Given the description of an element on the screen output the (x, y) to click on. 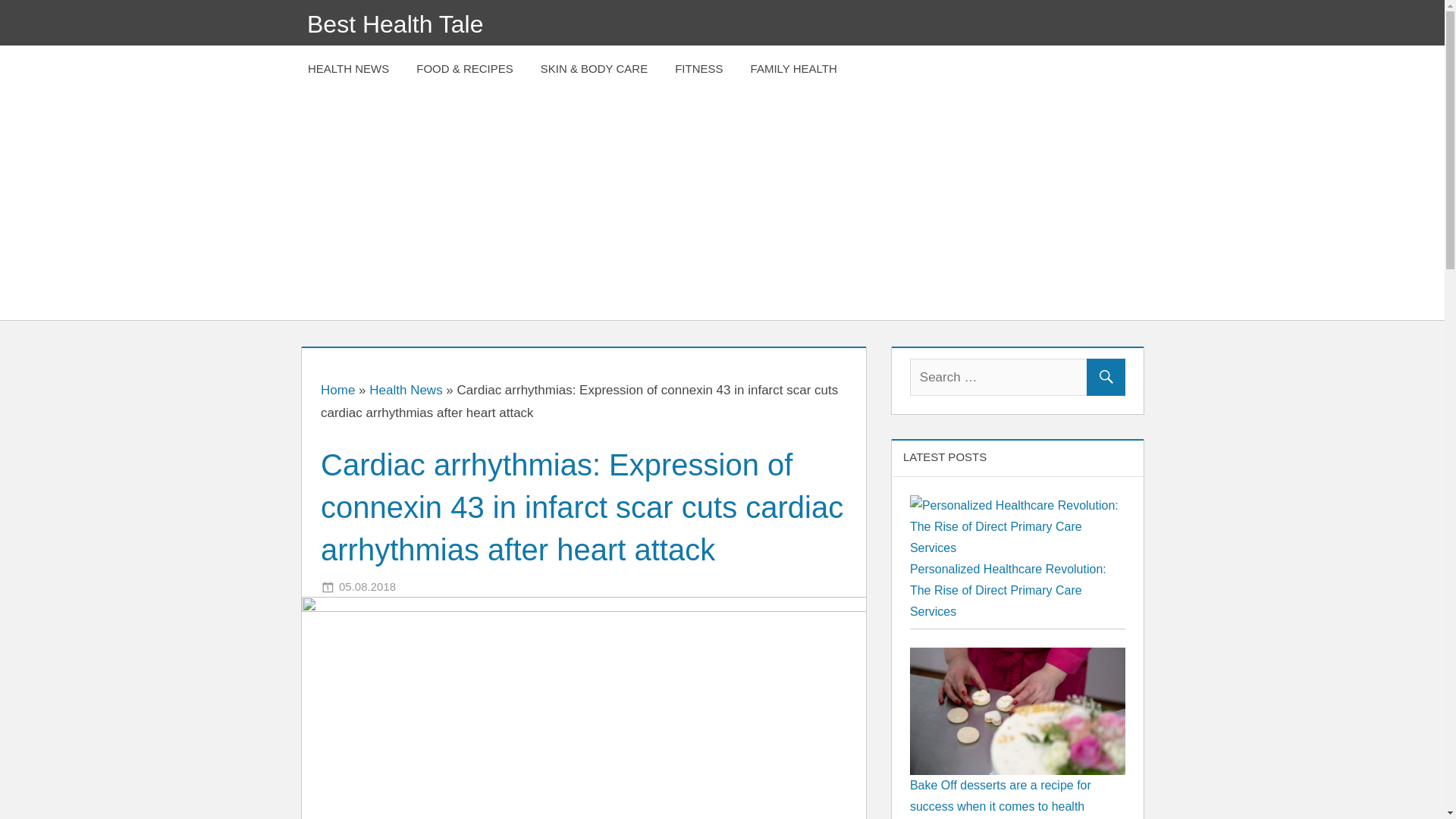
Home (337, 390)
FAMILY HEALTH (793, 68)
HEALTH NEWS (348, 68)
FITNESS (698, 68)
05.08.2018 (367, 585)
Best Health Tale (395, 23)
